Given the description of an element on the screen output the (x, y) to click on. 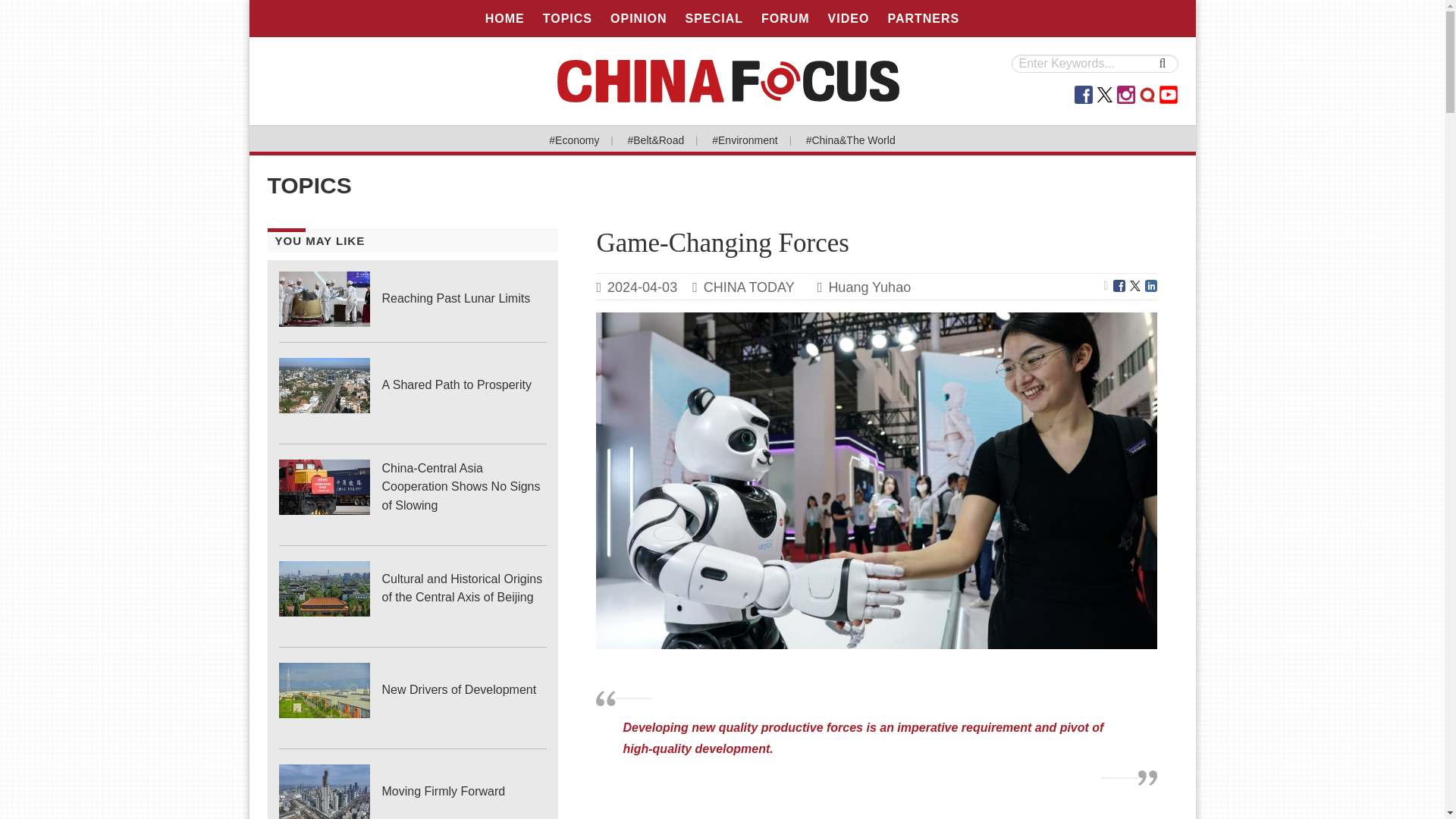
SPECIAL (714, 18)
VIDEO (848, 18)
HOME (505, 18)
FORUM (785, 18)
TOPICS (567, 18)
OPINION (639, 18)
